Given the description of an element on the screen output the (x, y) to click on. 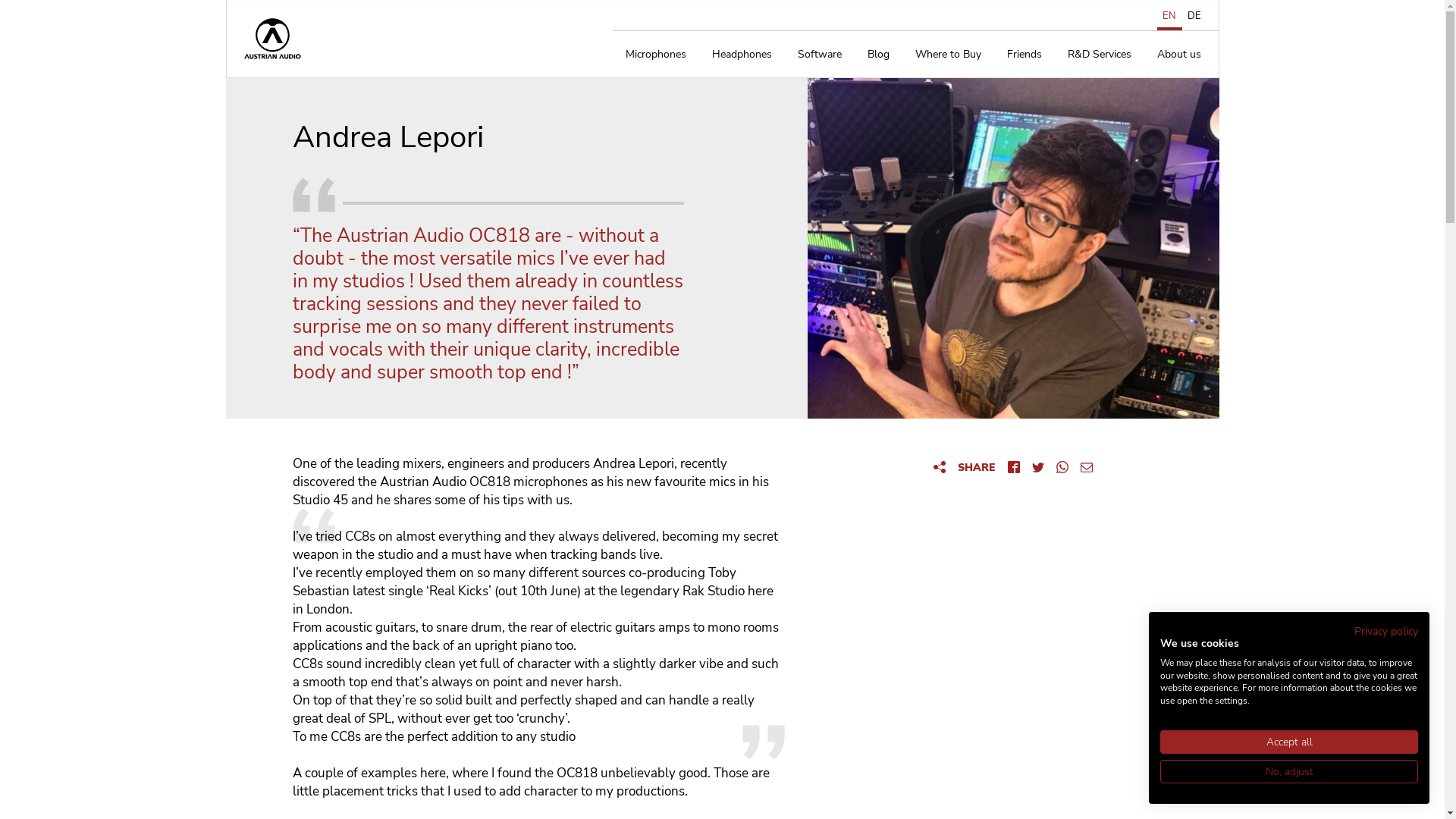
Privacy policy Element type: text (1386, 631)
Software Element type: text (818, 54)
Blog Element type: text (877, 54)
EN Element type: text (1169, 15)
Where to Buy Element type: text (948, 54)
Accept all Element type: text (1289, 741)
DE Element type: text (1193, 15)
Microphones Element type: text (655, 54)
R&D Services Element type: text (1098, 54)
About us Element type: text (1178, 54)
Headphones Element type: text (741, 54)
Friends Element type: text (1023, 54)
No, adjust Element type: text (1289, 771)
